Given the description of an element on the screen output the (x, y) to click on. 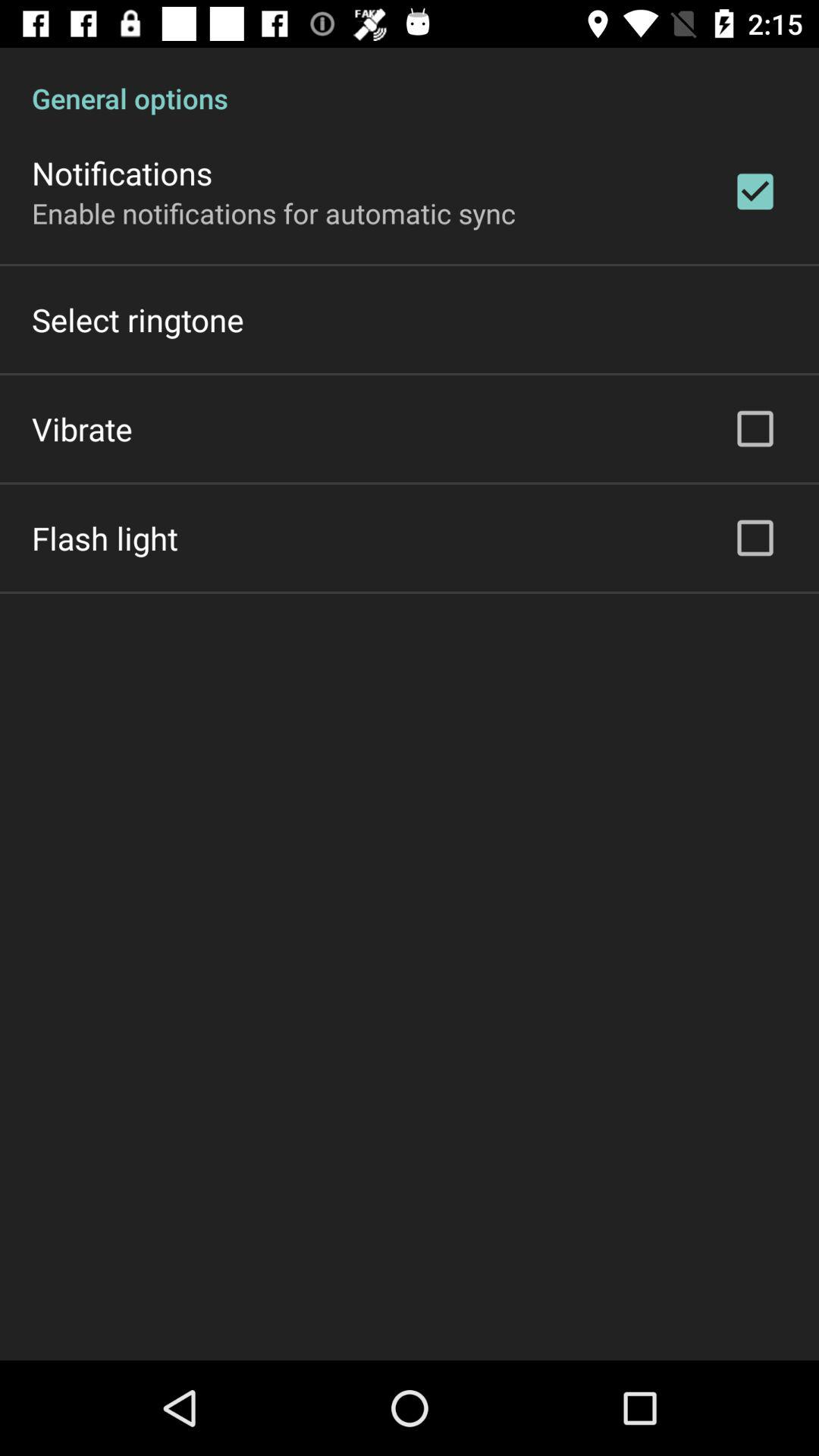
turn on the icon below notifications item (273, 213)
